Given the description of an element on the screen output the (x, y) to click on. 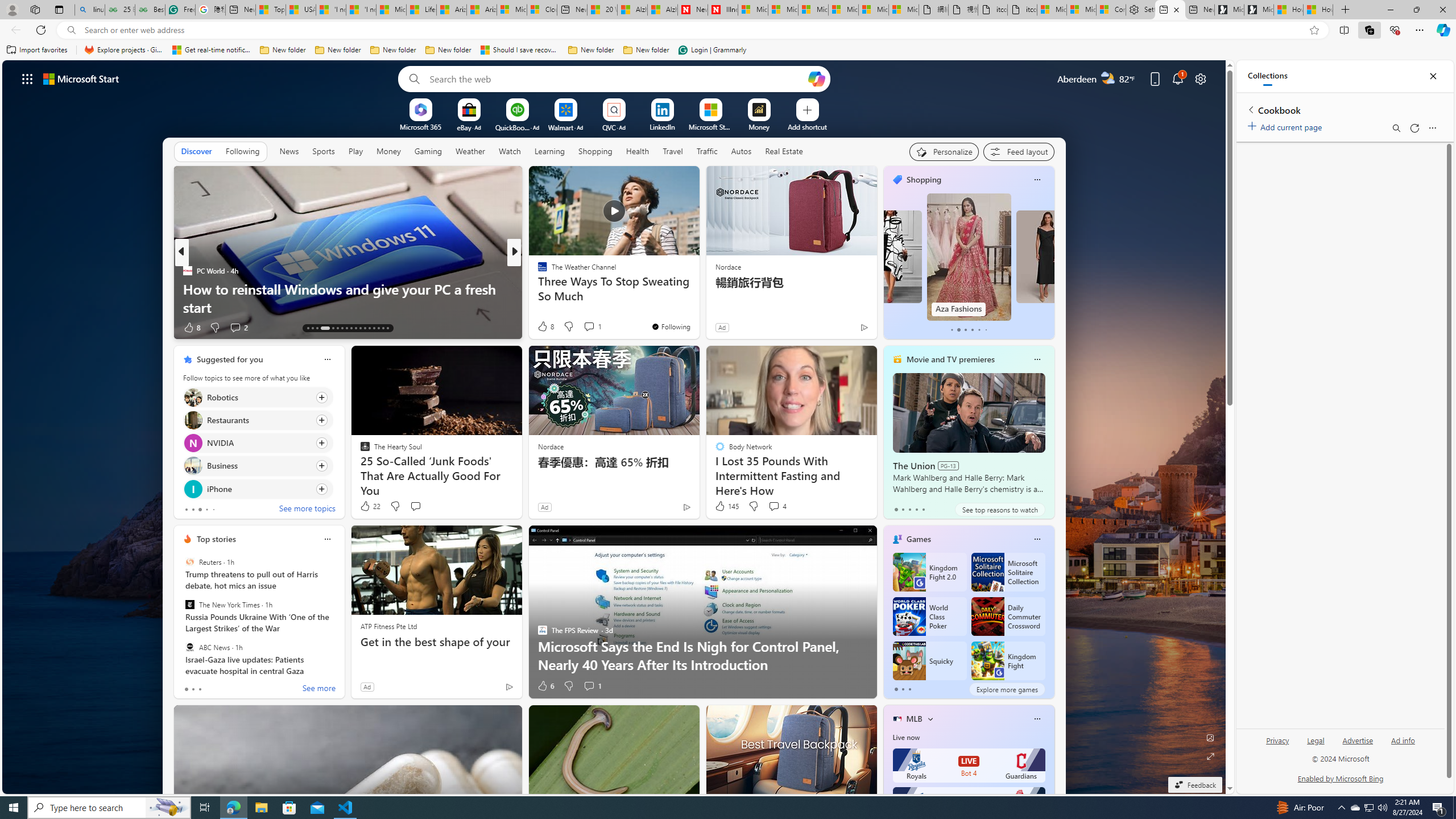
Class: sd-card-game-item-img-inner (987, 660)
Page settings (1200, 78)
Wealth of Geeks (537, 270)
25 Basic Linux Commands For Beginners - GeeksforGeeks (119, 9)
Start the conversation (414, 505)
More options menu (1432, 127)
Feed settings (1018, 151)
View comments 12 Comment (592, 327)
View comments 1 Comment (591, 685)
Advertise (1357, 740)
22 Like (368, 505)
previous (179, 432)
How to Use a TV as a Computer Monitor (1318, 9)
